Given the description of an element on the screen output the (x, y) to click on. 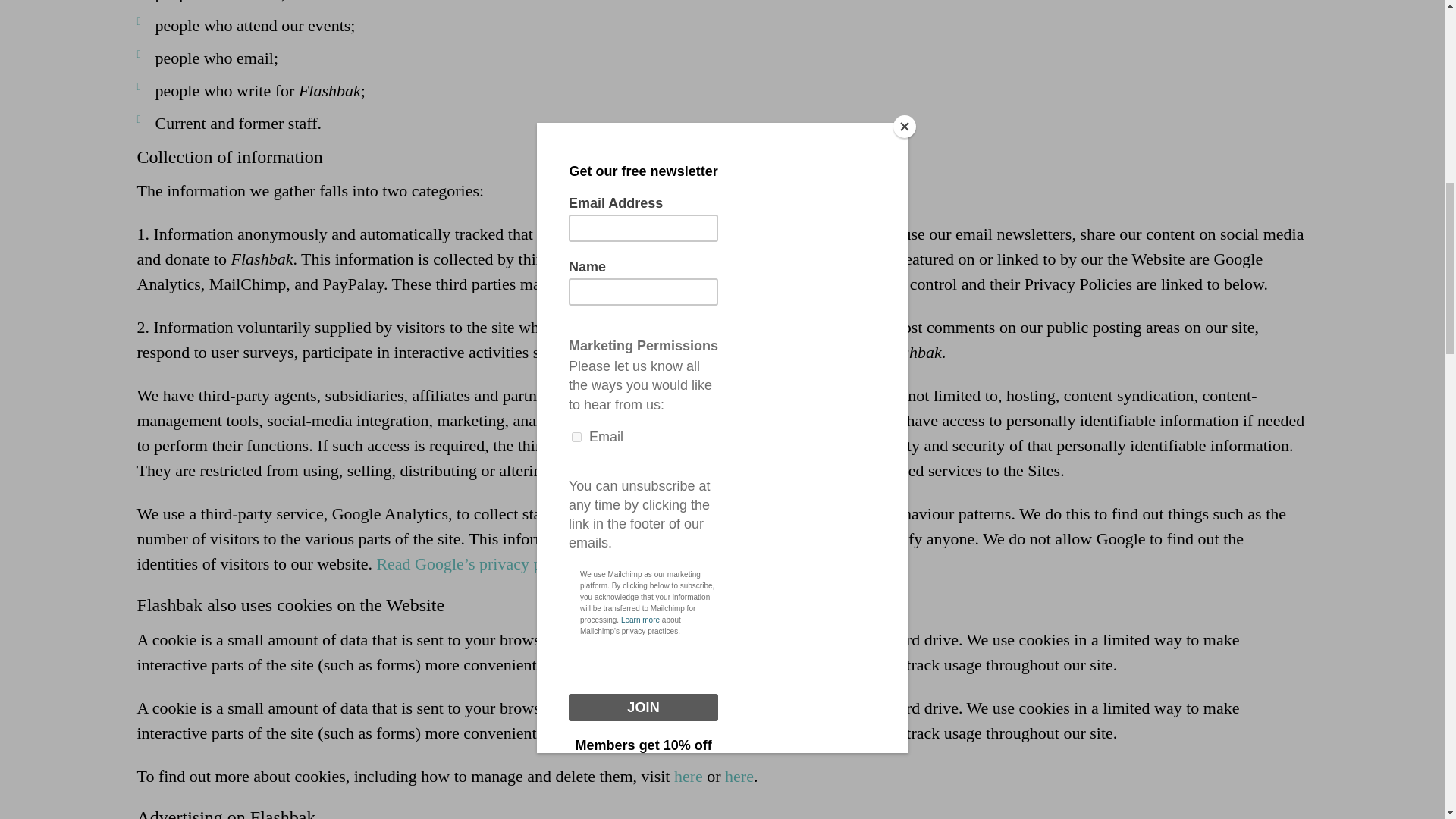
here (688, 775)
here (739, 775)
